Given the description of an element on the screen output the (x, y) to click on. 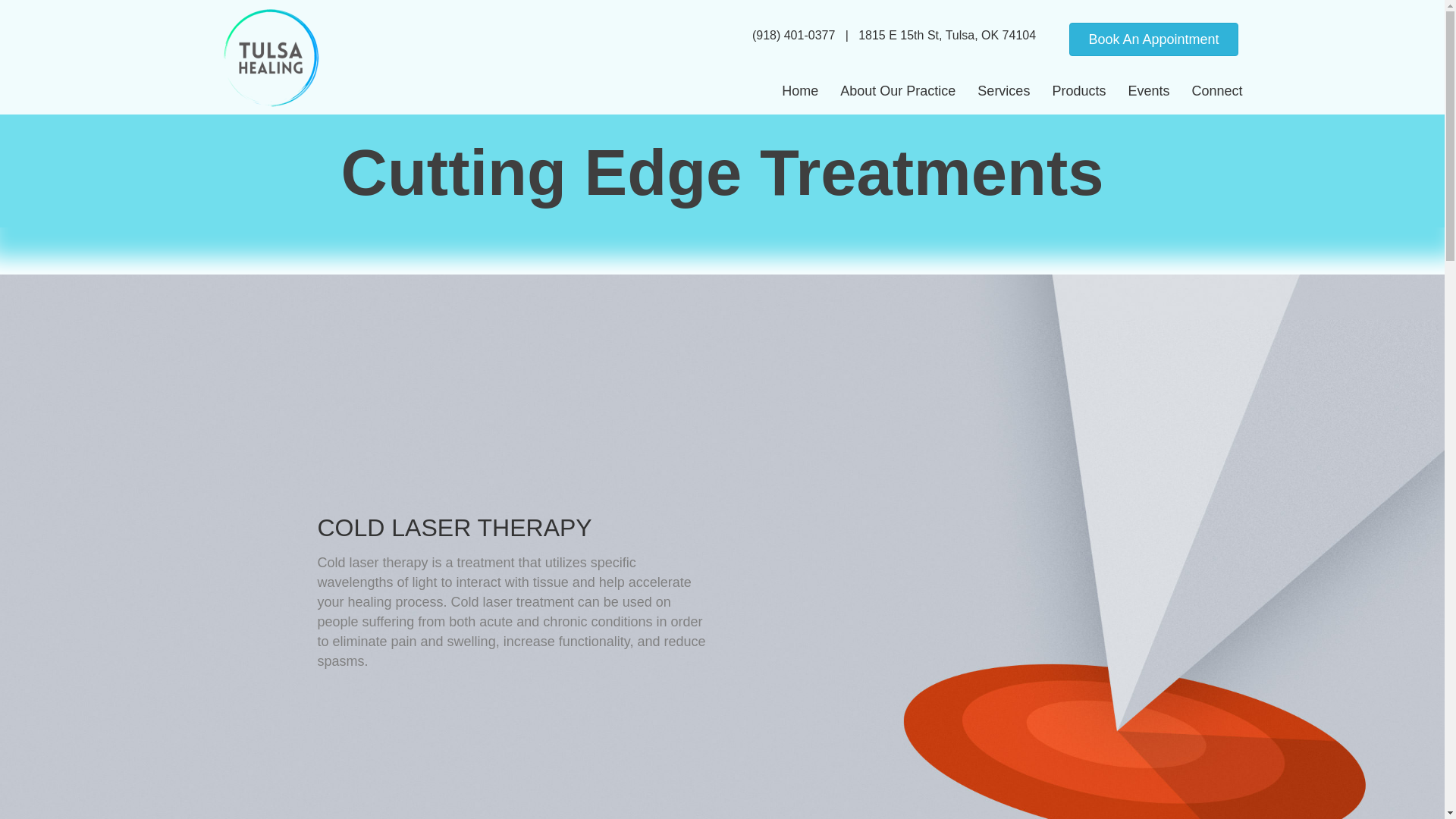
Events (1147, 91)
About our Practice (897, 91)
About Our Practice (897, 91)
Services (1003, 91)
Products (1078, 91)
1815 E 15th St, Tulsa, OK 74104 (945, 34)
Connect (1216, 91)
Book An Appointment (1152, 39)
Home			 (799, 91)
Upcoming Events (1147, 91)
Home (799, 91)
Connect (1216, 91)
